Given the description of an element on the screen output the (x, y) to click on. 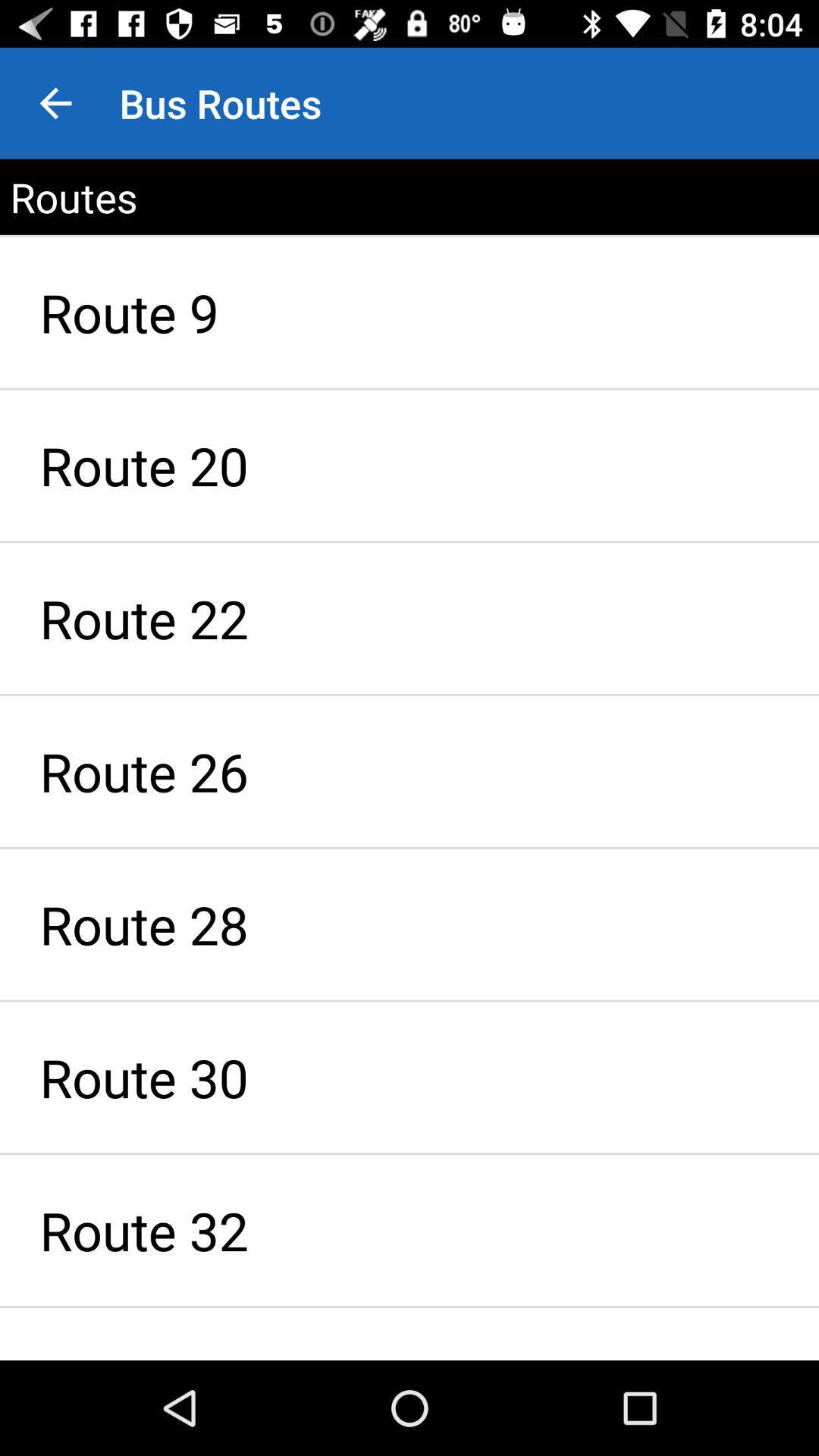
click the route 22 (409, 618)
